Given the description of an element on the screen output the (x, y) to click on. 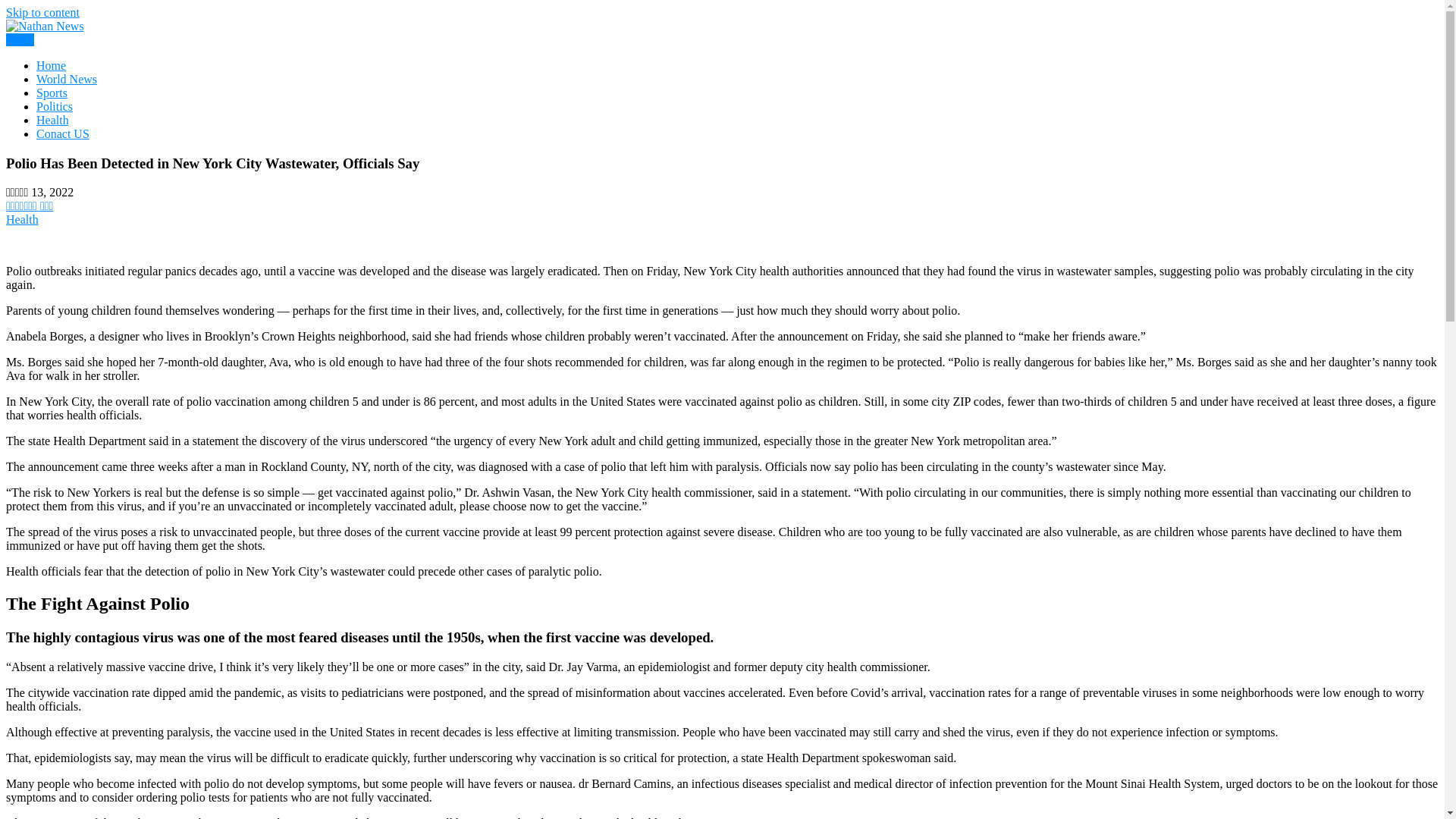
World News (66, 78)
Sports (51, 92)
Health (52, 119)
Menu (19, 39)
Skip to content (42, 11)
Politics (54, 106)
Health (22, 219)
Nathan News (74, 62)
Home (50, 65)
Conact US (62, 133)
